Given the description of an element on the screen output the (x, y) to click on. 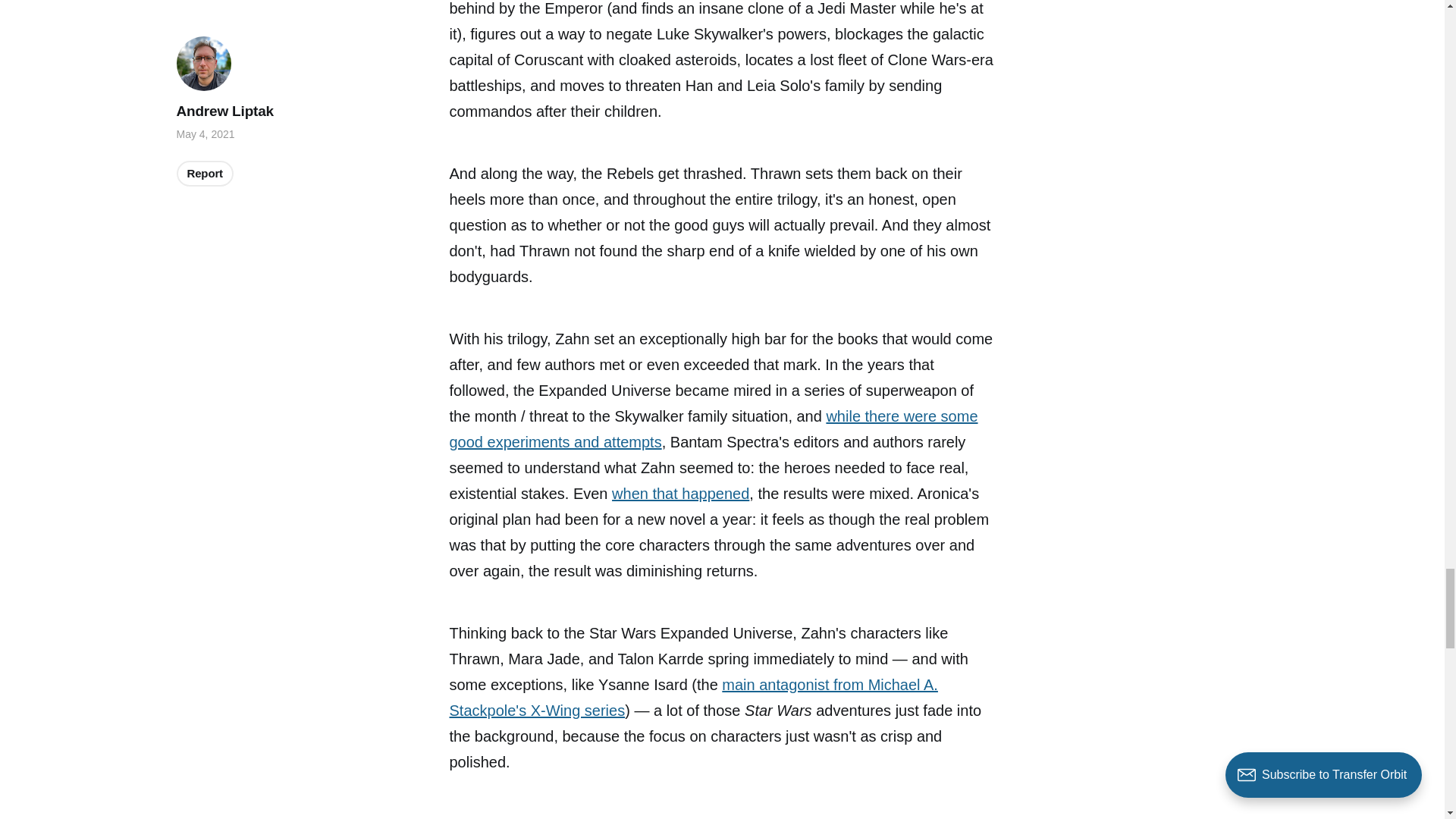
when that happened (680, 493)
while there were some good experiments and attempts (712, 428)
main antagonist from Michael A. Stackpole's X-Wing series (692, 697)
